Given the description of an element on the screen output the (x, y) to click on. 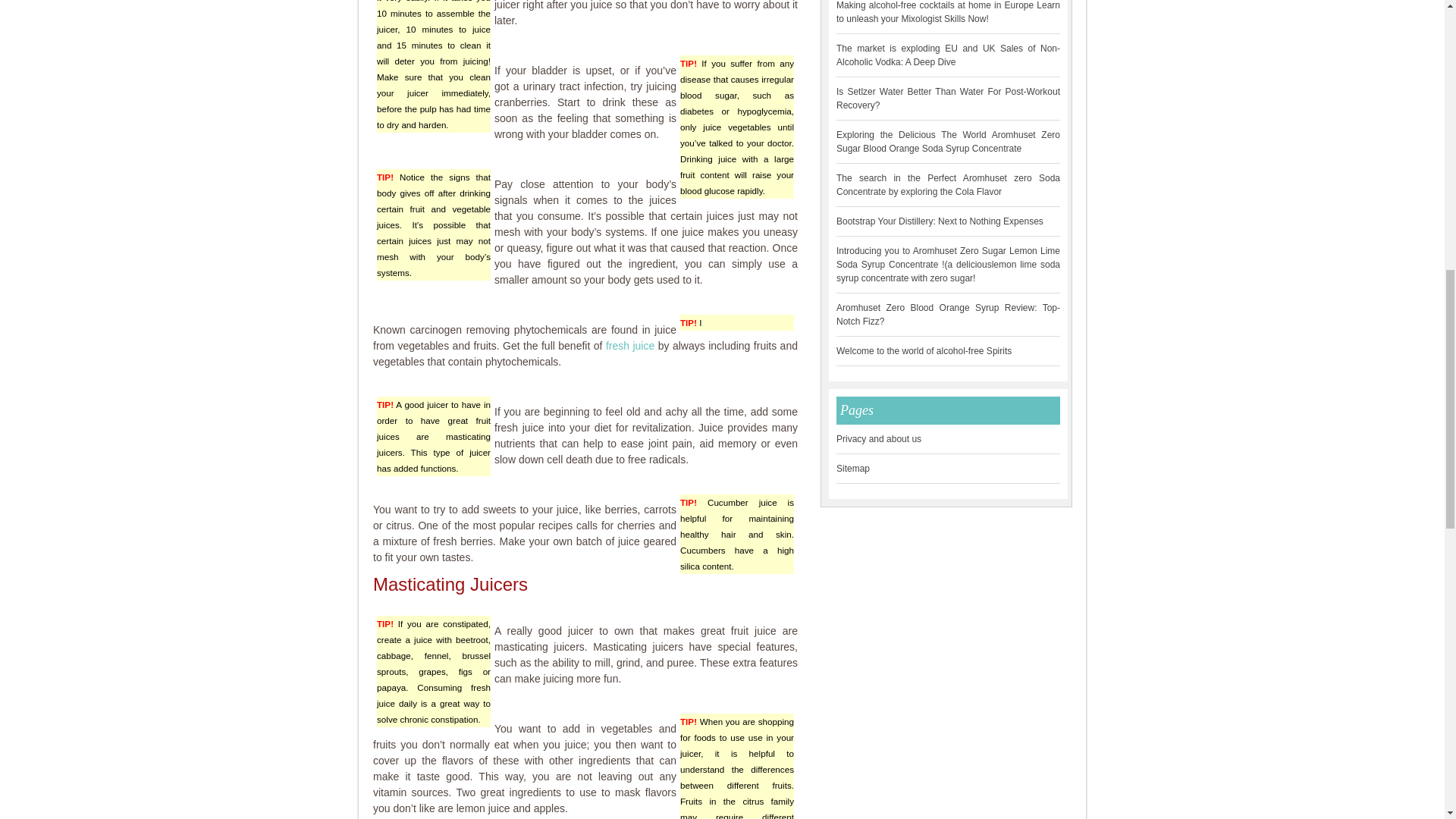
Sitemap (852, 467)
fresh juice (629, 345)
Welcome to the world of alcohol-free Spirits (923, 350)
Aromhuset Zero Blood Orange Syrup Review: Top-Notch Fizz? (947, 313)
Bootstrap Your Distillery: Next to Nothing Expenses (939, 220)
Privacy and about us (878, 439)
